Given the description of an element on the screen output the (x, y) to click on. 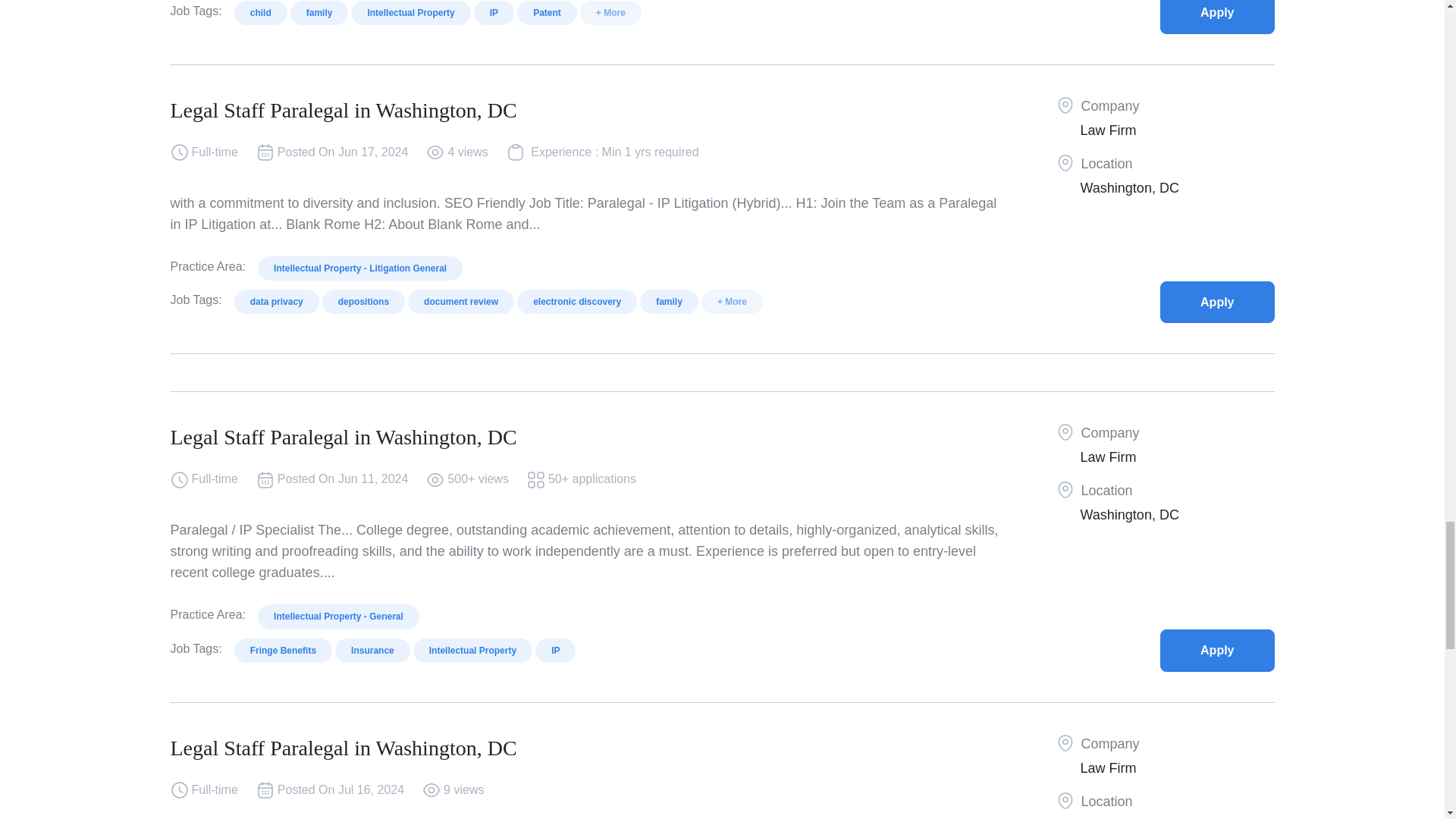
Legal Staff Paralegal in Washington, DC (1217, 301)
Legal Staff Paralegal in Washington, DC (1217, 16)
Legal Staff Paralegal in Washington, DC (1217, 649)
